Given the description of an element on the screen output the (x, y) to click on. 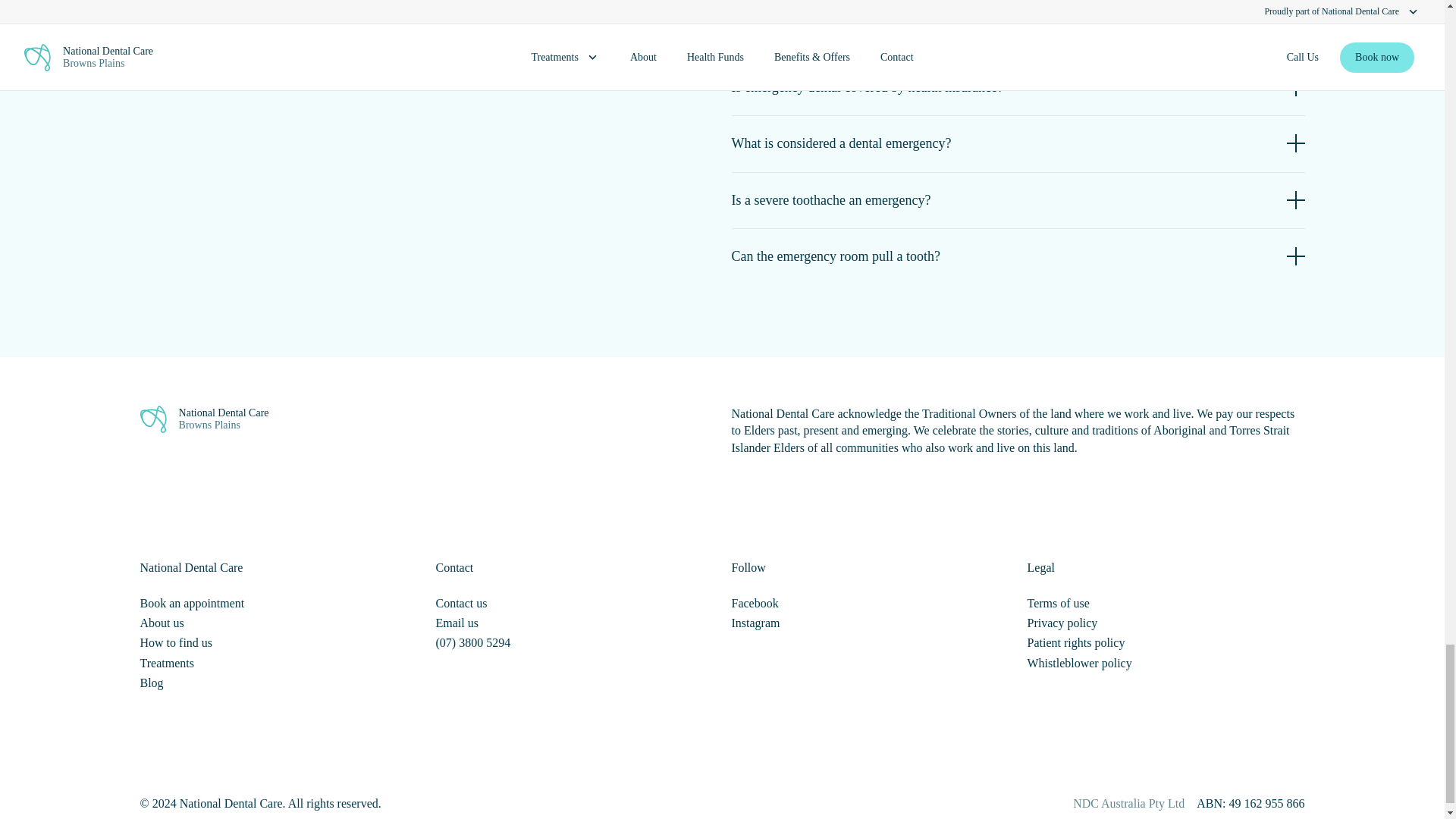
Can the emergency room pull a tooth? (1017, 256)
Is a severe toothache an emergency? (1017, 199)
What is considered a dental emergency? (1017, 143)
Is emergency dental covered by health insurance? (1017, 86)
How much do emergency dental services cost? (1017, 30)
